Given the description of an element on the screen output the (x, y) to click on. 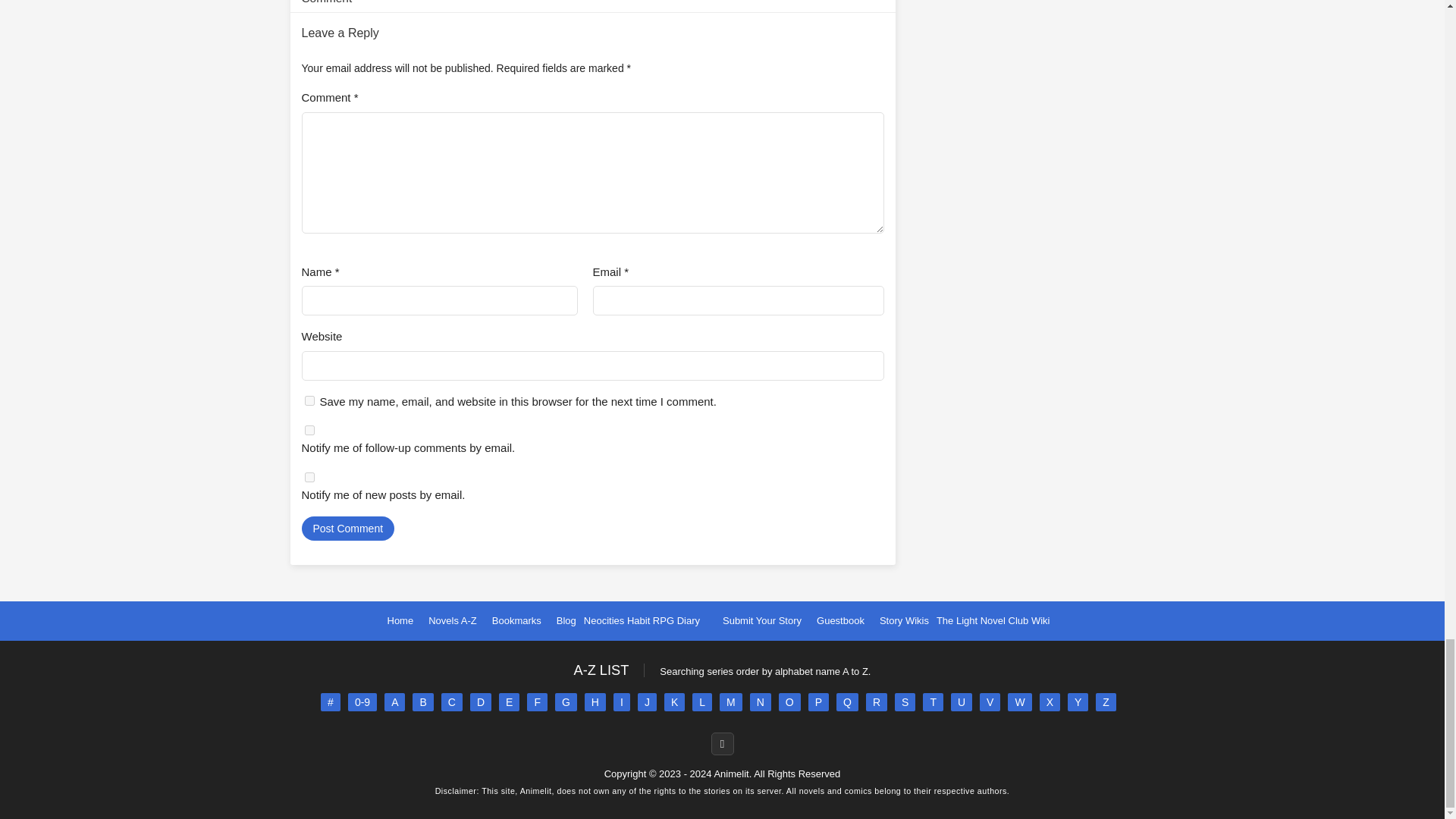
yes (309, 400)
subscribe (309, 429)
Post Comment (347, 528)
Post Comment (347, 528)
subscribe (309, 476)
